Given the description of an element on the screen output the (x, y) to click on. 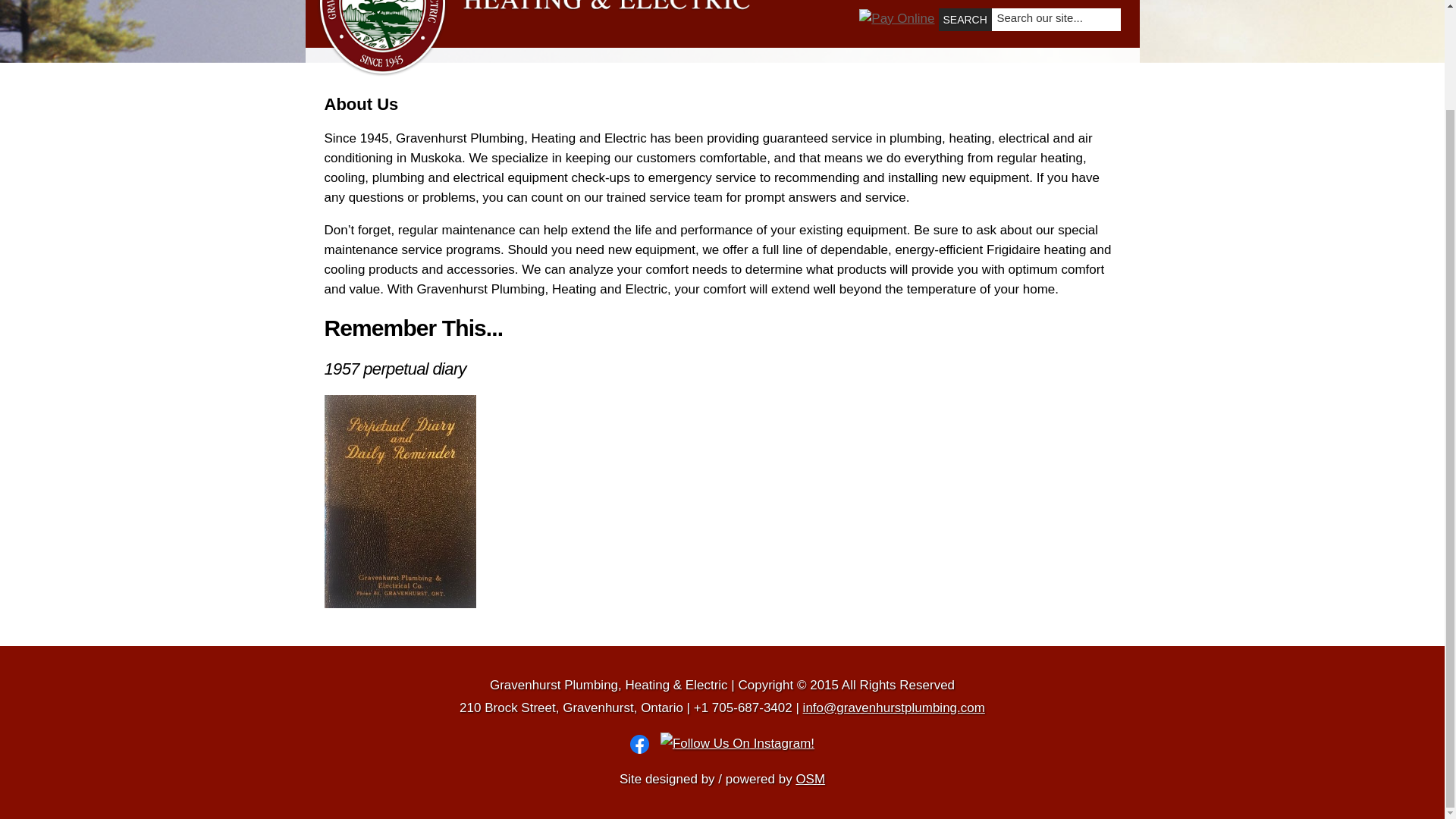
Instagram (737, 743)
Search our site... (1050, 17)
Make a Payment (896, 17)
Search (965, 19)
Facebook (645, 743)
Search (965, 19)
Search our site... (1050, 17)
